Given the description of an element on the screen output the (x, y) to click on. 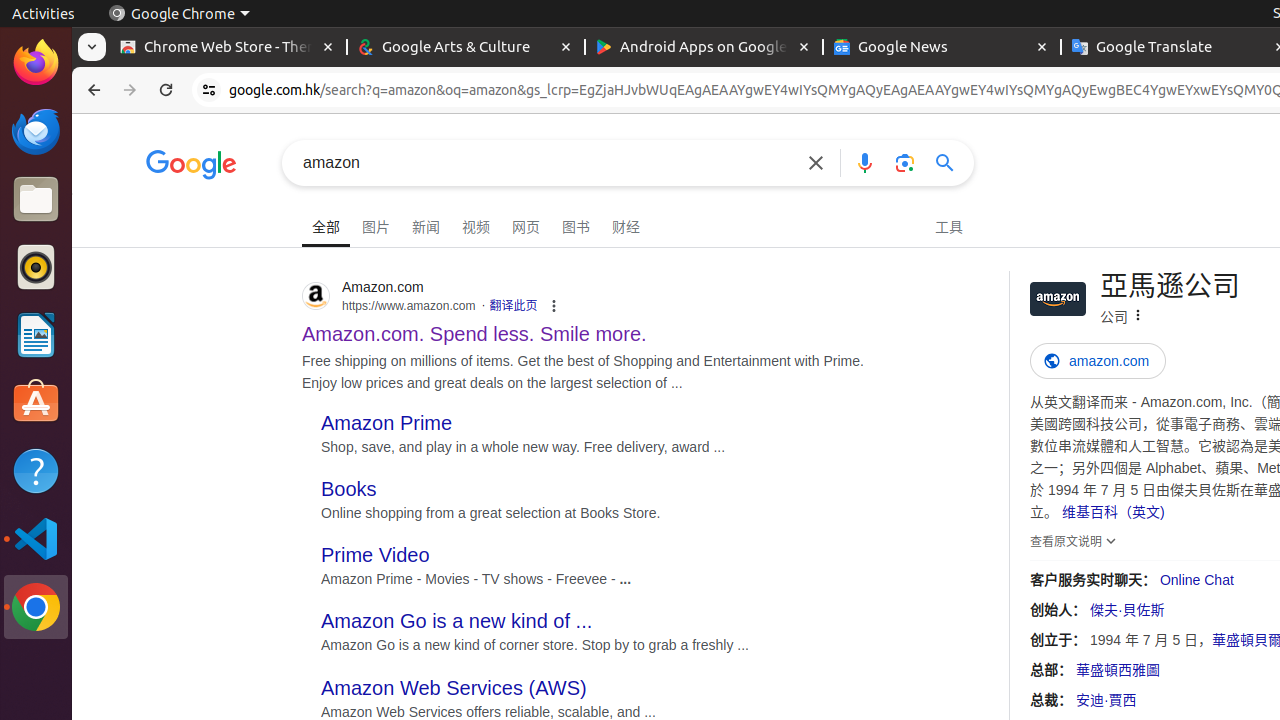
Amazon Go is a new kind of ... Element type: link (457, 621)
搜索 Element type: push-button (951, 162)
LibreOffice Writer Element type: push-button (36, 334)
Visual Studio Code Element type: push-button (36, 538)
图书 Element type: link (576, 224)
